Given the description of an element on the screen output the (x, y) to click on. 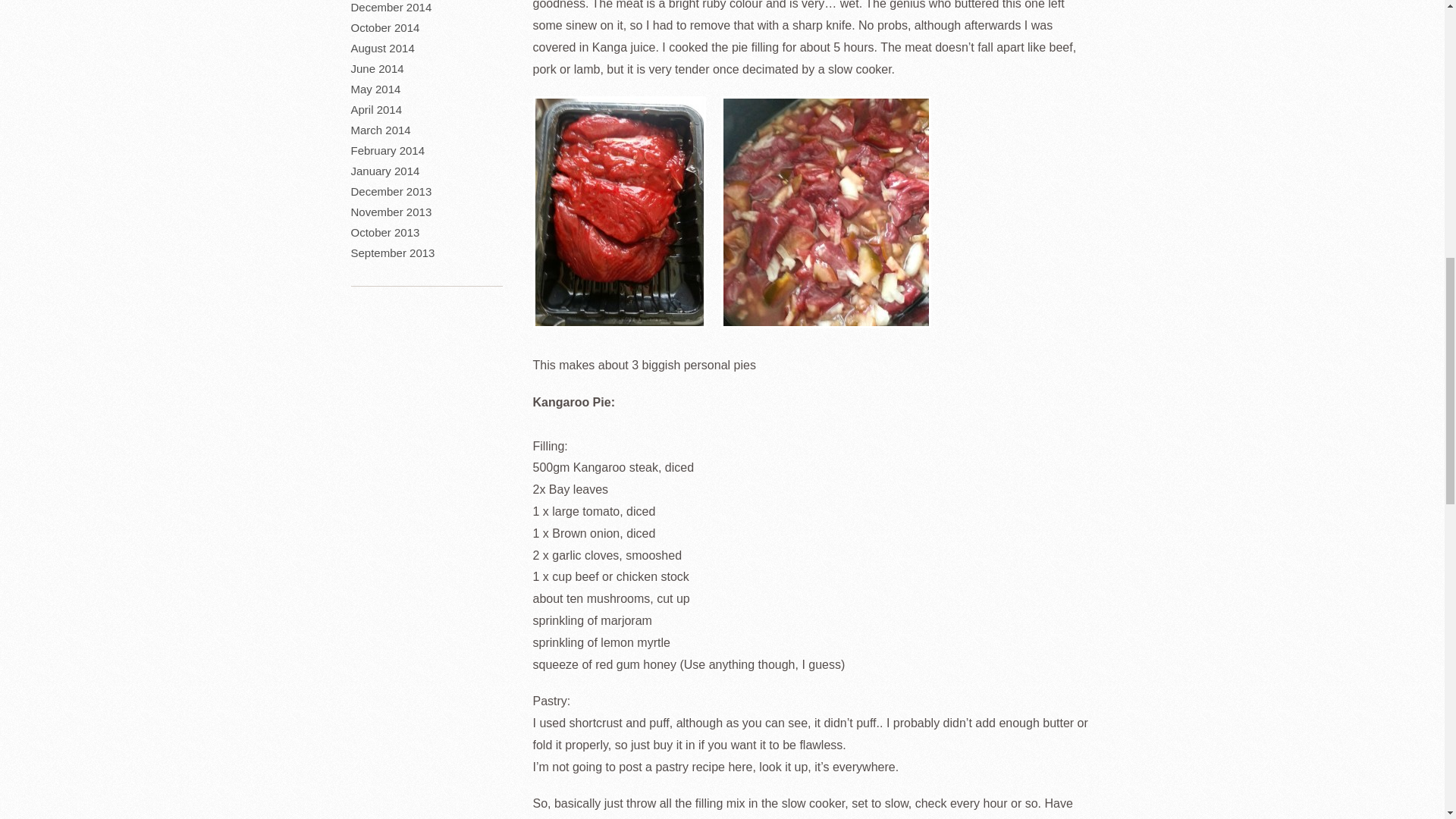
April 2014 (375, 109)
February 2014 (387, 150)
December 2013 (390, 191)
March 2014 (380, 129)
October 2013 (384, 232)
December 2014 (390, 6)
June 2014 (376, 68)
May 2014 (375, 88)
January 2014 (384, 170)
October 2014 (384, 27)
